Given the description of an element on the screen output the (x, y) to click on. 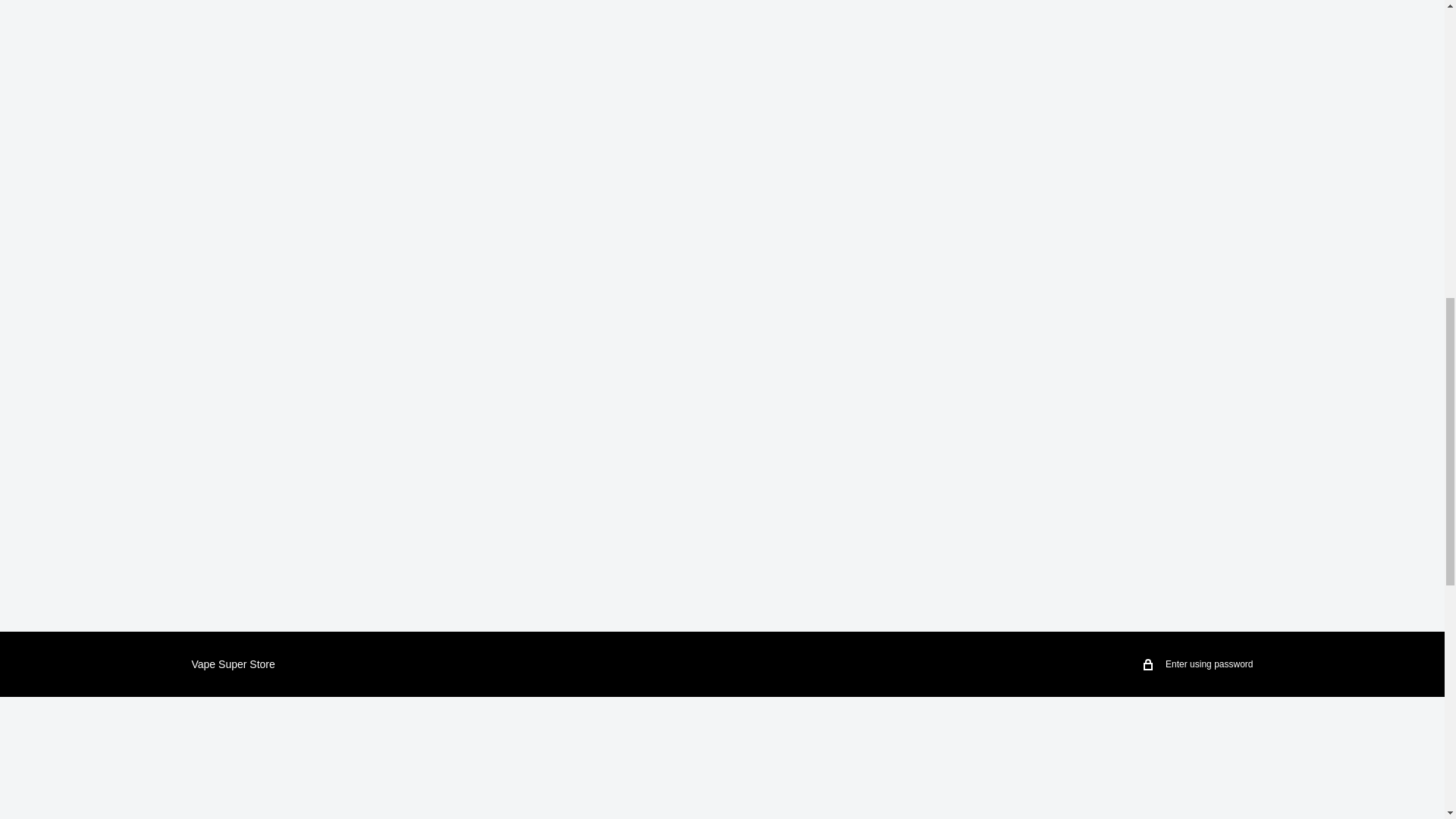
Enter using password (1197, 664)
Vape Super Store (232, 664)
